Given the description of an element on the screen output the (x, y) to click on. 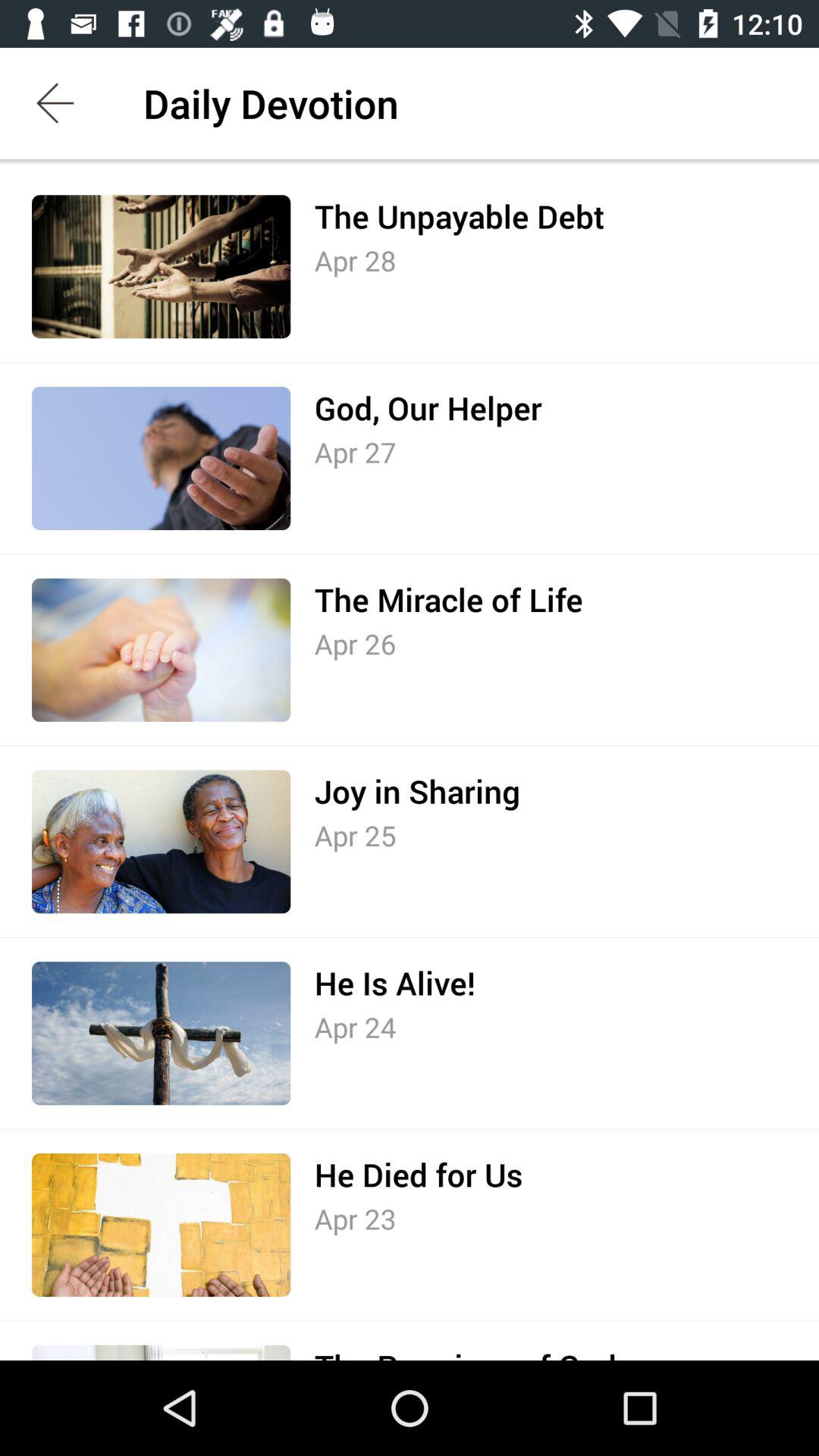
flip until he is alive! item (394, 982)
